Given the description of an element on the screen output the (x, y) to click on. 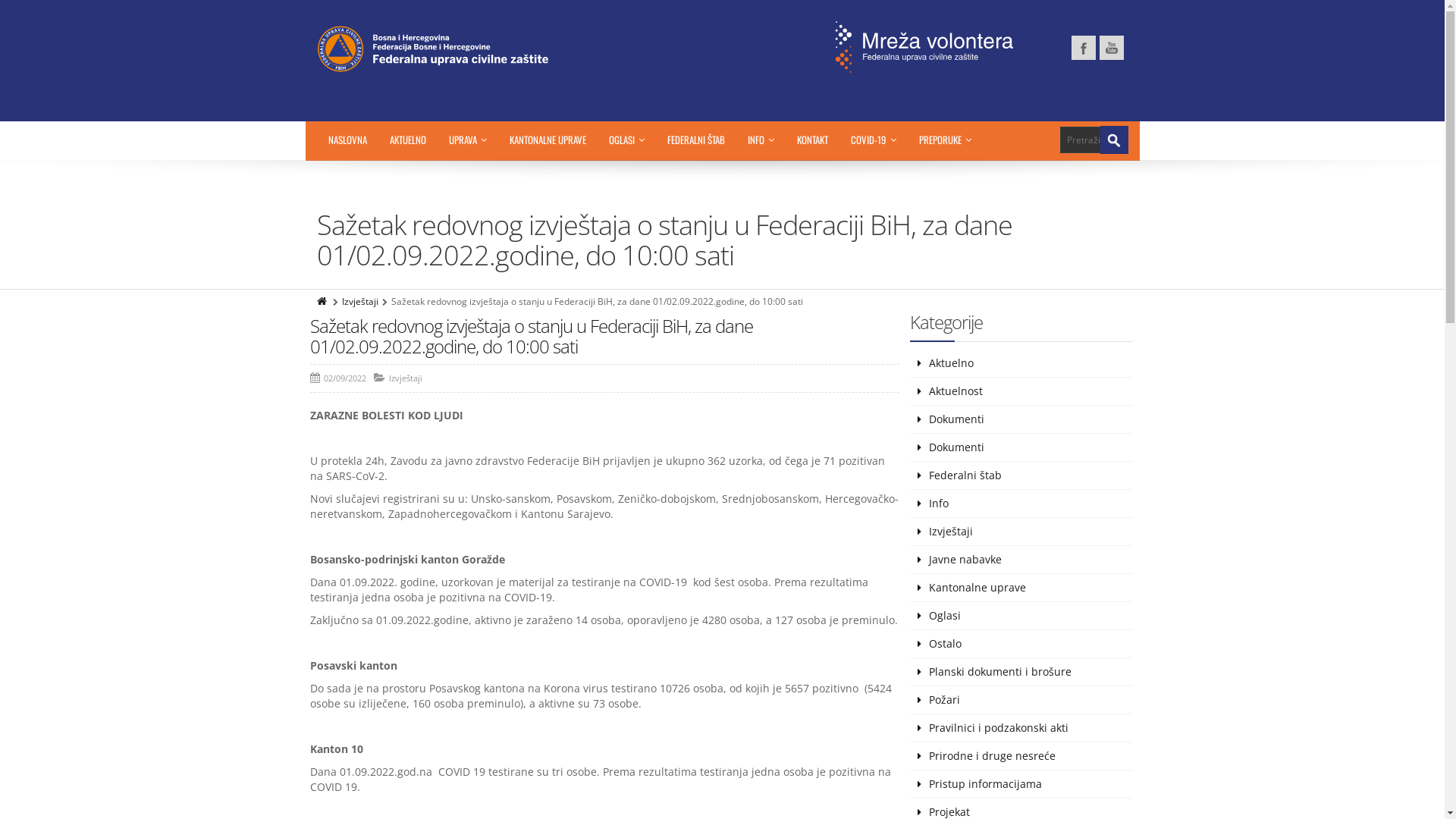
Dokumenti Element type: text (1021, 419)
KONTAKT Element type: text (812, 139)
COVID-19 Element type: text (872, 139)
Kantonalne uprave Element type: text (1021, 588)
Aktuelnost Element type: text (1021, 391)
Dokumenti Element type: text (1021, 447)
PREPORUKE Element type: text (944, 139)
UPRAVA Element type: text (466, 139)
KANTONALNE UPRAVE Element type: text (546, 139)
OGLASI Element type: text (626, 139)
Ostalo Element type: text (1021, 644)
Pristup informacijama Element type: text (1021, 784)
AKTUELNO Element type: text (406, 139)
Javne nabavke Element type: text (1021, 560)
Oglasi Element type: text (1021, 616)
Pravilnici i podzakonski akti Element type: text (1021, 728)
Info Element type: text (1021, 503)
Aktuelno Element type: text (1021, 363)
Home Element type: hover (322, 300)
INFO Element type: text (759, 139)
NASLOVNA Element type: text (347, 139)
